Given the description of an element on the screen output the (x, y) to click on. 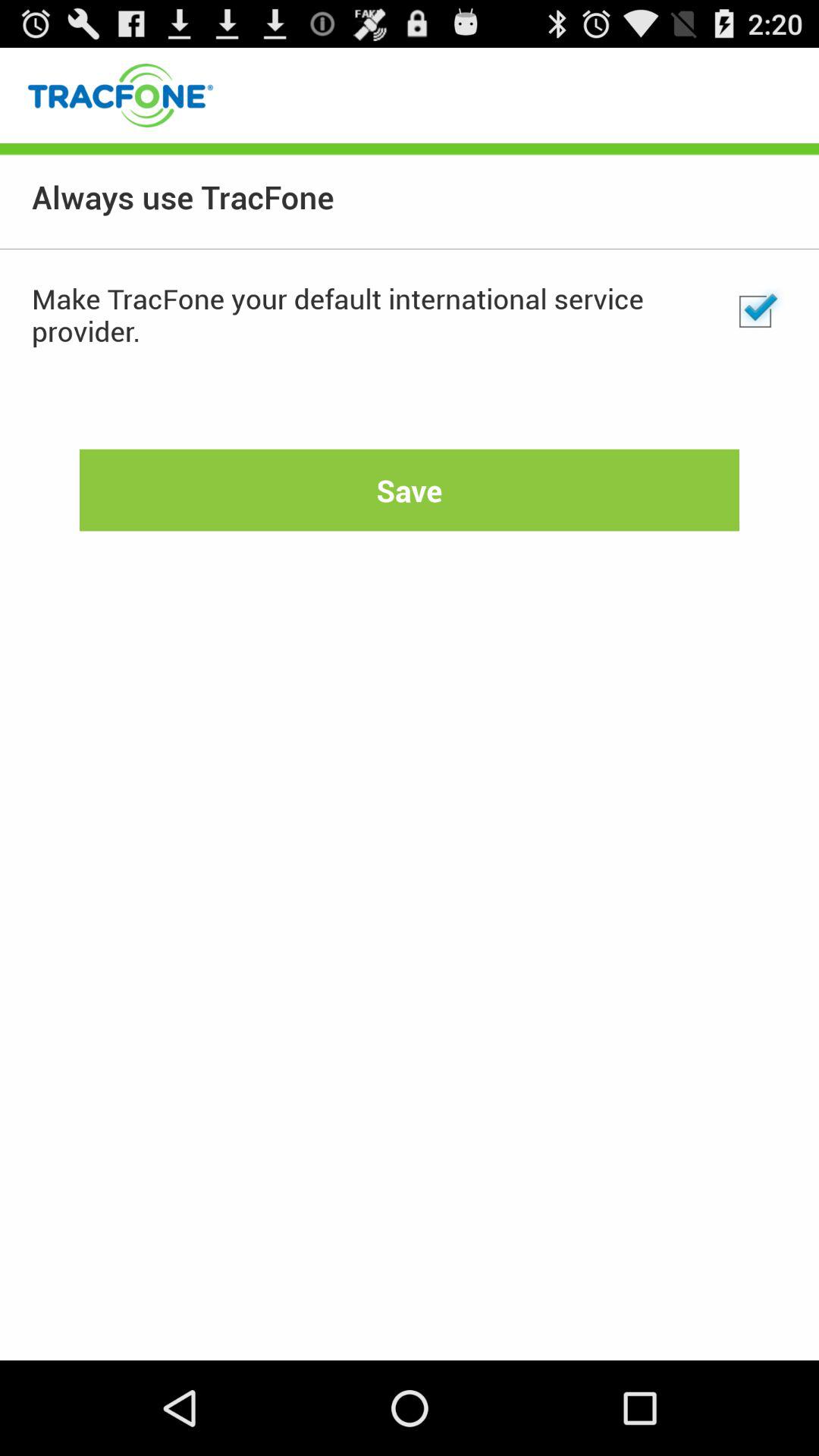
turn off app next to the make tracfone your item (755, 311)
